Given the description of an element on the screen output the (x, y) to click on. 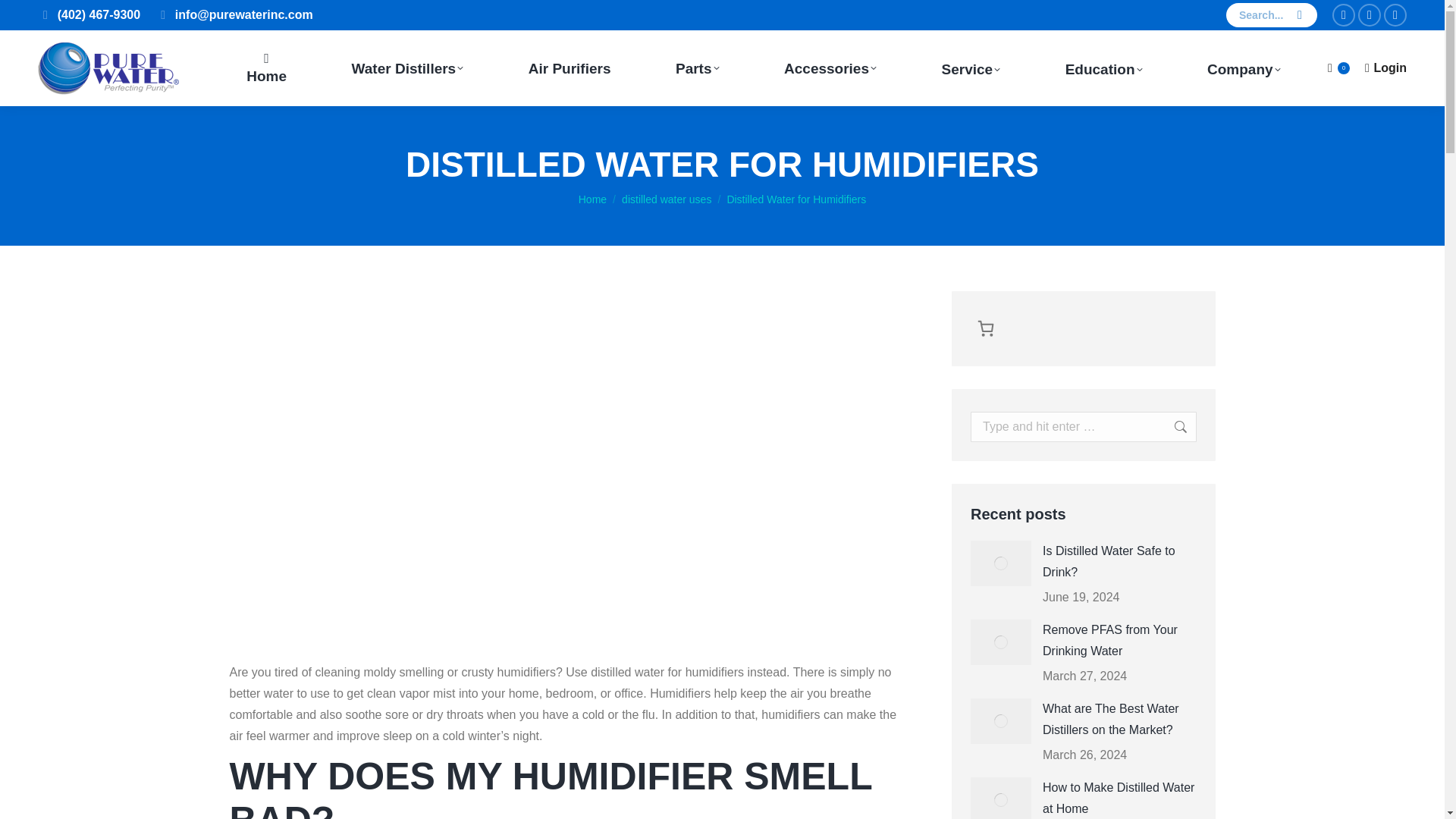
Facebook page opens in new window (1343, 15)
Search form (1271, 15)
Education (1102, 68)
Accessories (830, 68)
Facebook page opens in new window (1343, 15)
Go! (1164, 426)
Dribbble page opens in new window (1395, 15)
Air Purifiers (569, 68)
Service (970, 68)
Company (1243, 68)
